Given the description of an element on the screen output the (x, y) to click on. 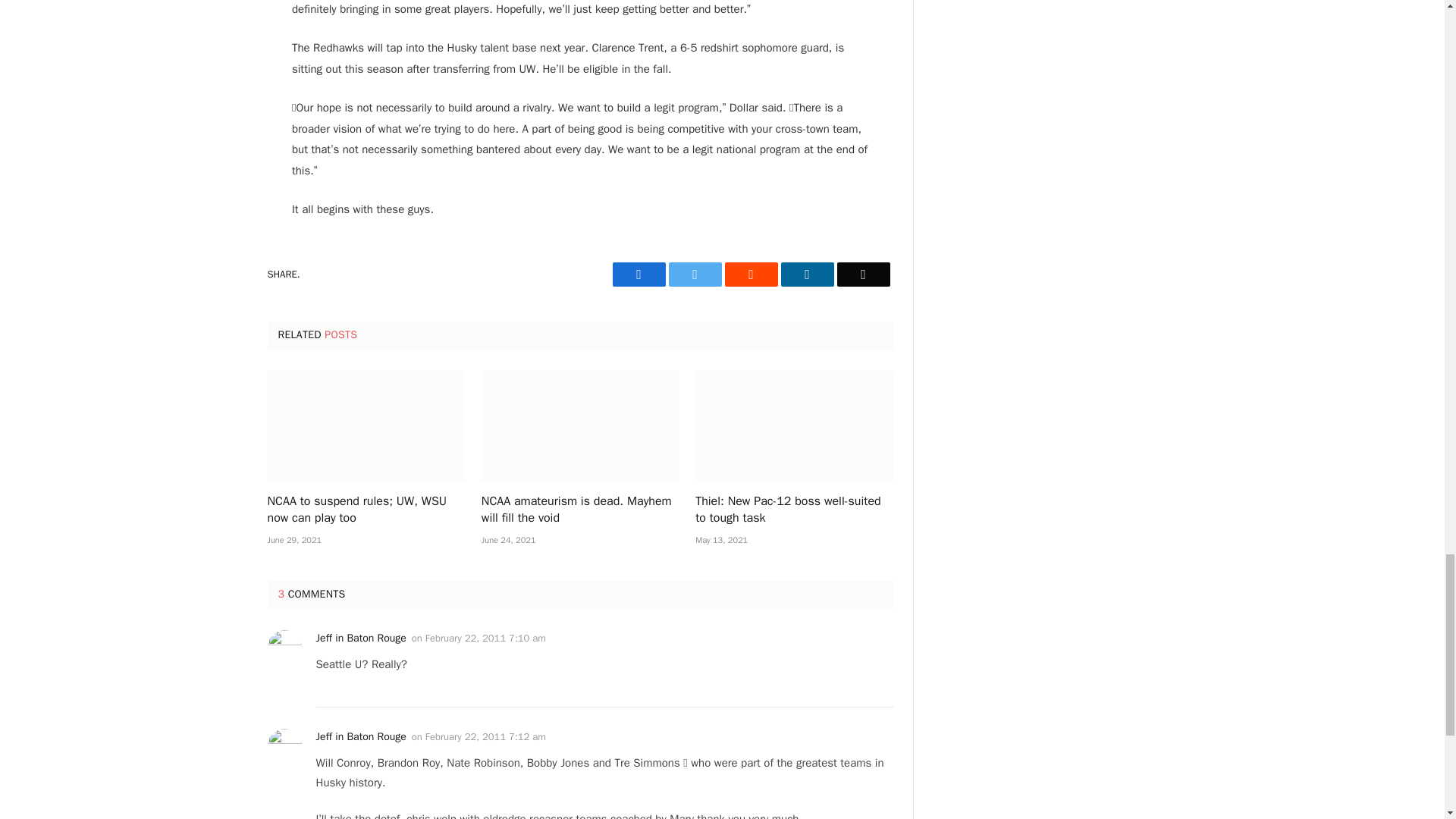
Twitter (695, 274)
Facebook (638, 274)
LinkedIn (807, 274)
Reddit (751, 274)
Email (863, 274)
